Given the description of an element on the screen output the (x, y) to click on. 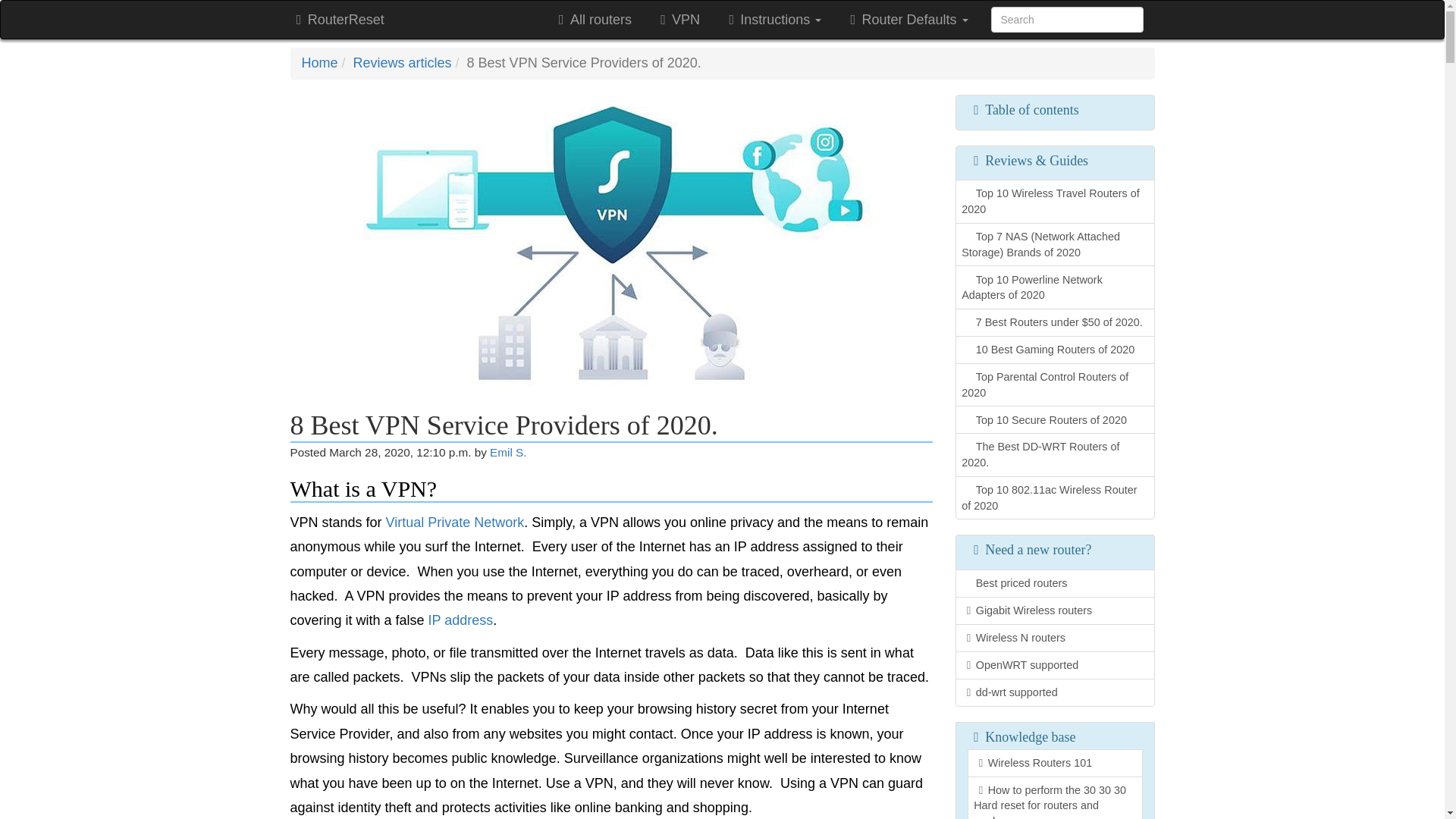
All routers (592, 19)
Virtual Private Network (454, 522)
Home (319, 62)
Instructions (771, 19)
VPN (677, 19)
RouterReset (337, 19)
IP address (460, 620)
Reviews articles (402, 62)
Emil S. (507, 451)
Router Defaults (905, 19)
